Given the description of an element on the screen output the (x, y) to click on. 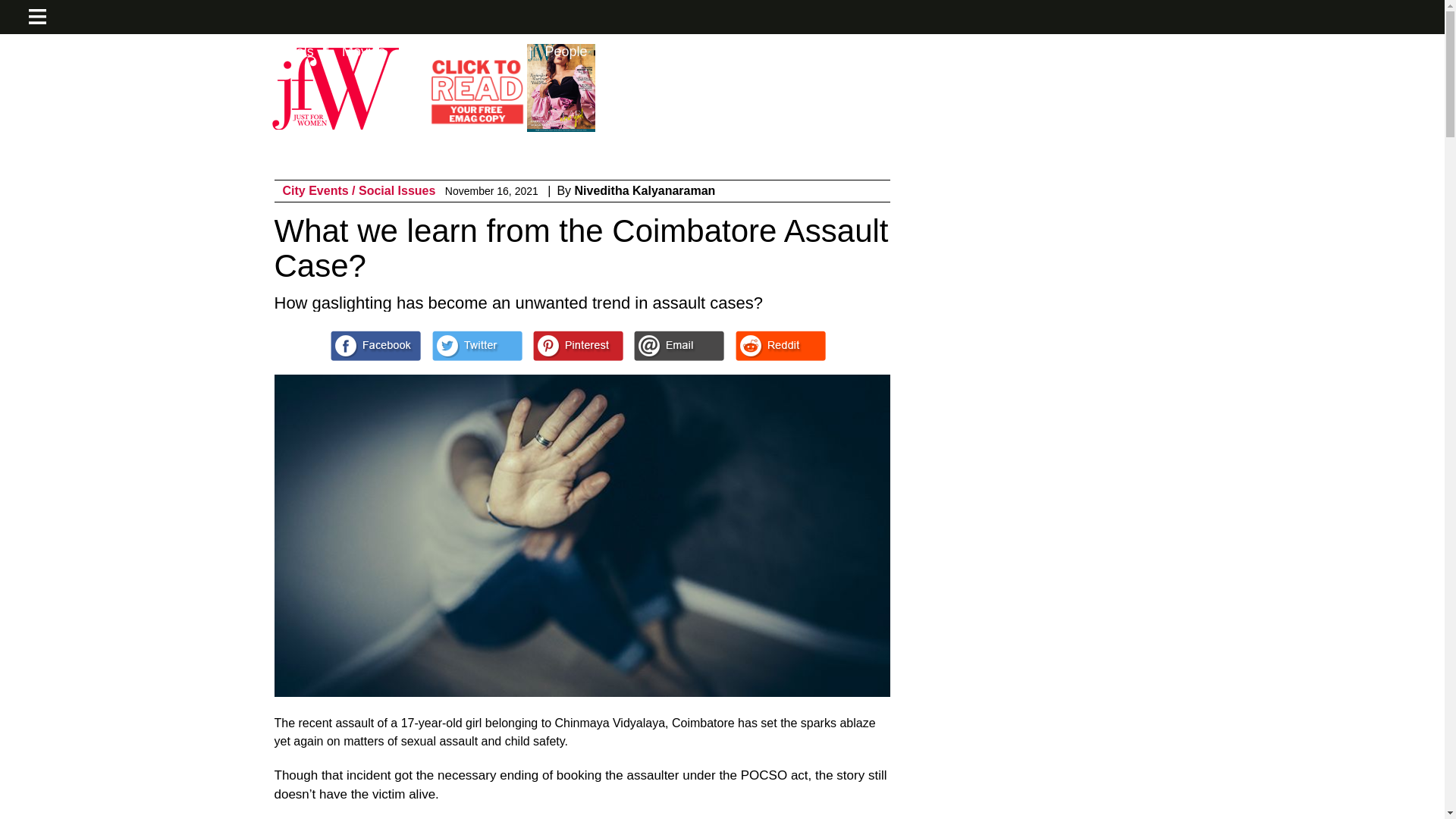
City Events  (317, 190)
Fashion (76, 52)
Social Issues (396, 190)
Social Issues (396, 190)
JFW Originals (271, 52)
Share with Friend (678, 345)
Movies (363, 52)
People (565, 52)
City Events (317, 190)
JFW Events (166, 52)
